Given the description of an element on the screen output the (x, y) to click on. 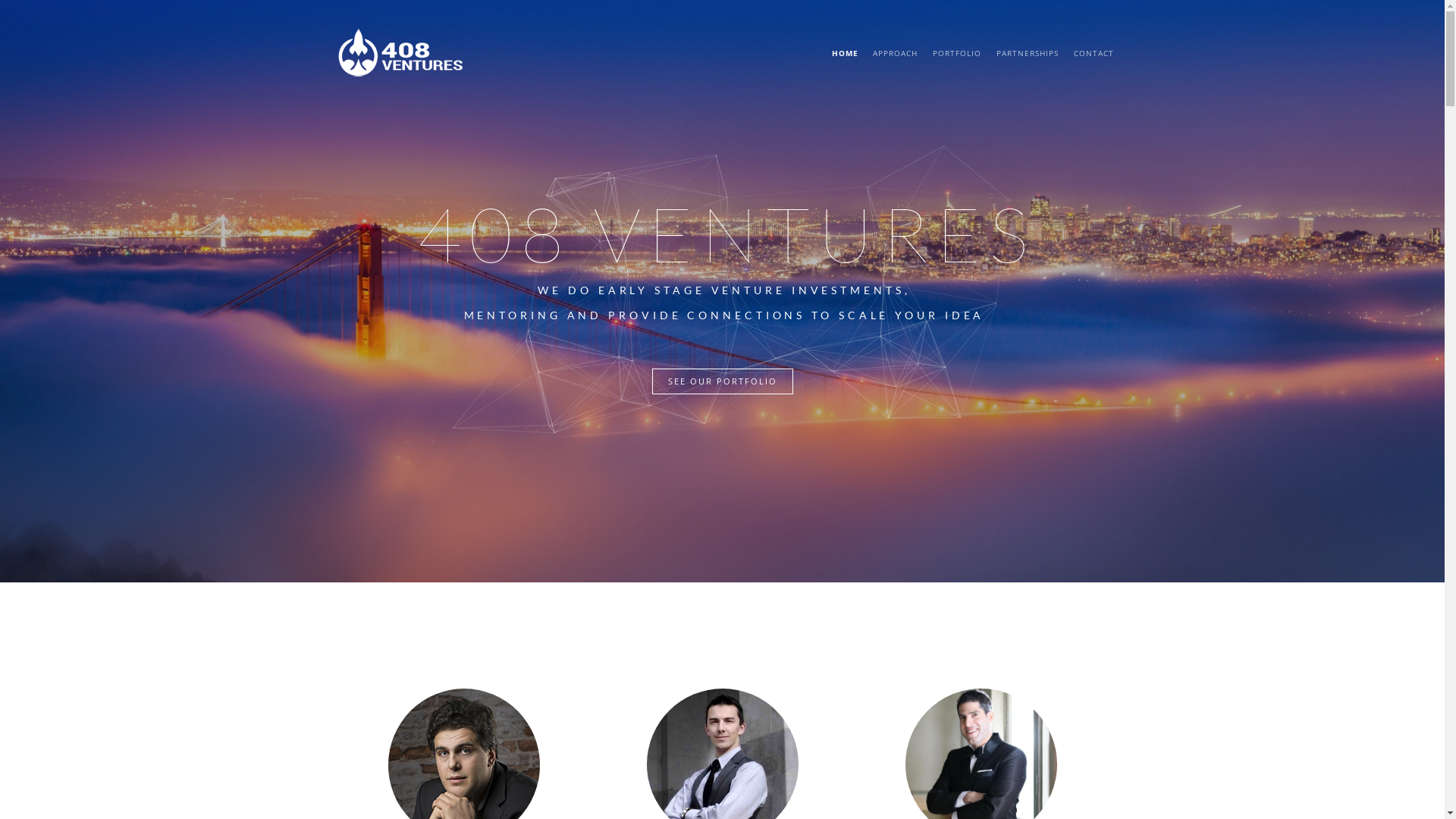
CONTACT Element type: text (1093, 53)
APPROACH Element type: text (895, 53)
PARTNERSHIPS Element type: text (1027, 53)
HOME Element type: text (844, 53)
PORTFOLIO Element type: text (956, 53)
